Given the description of an element on the screen output the (x, y) to click on. 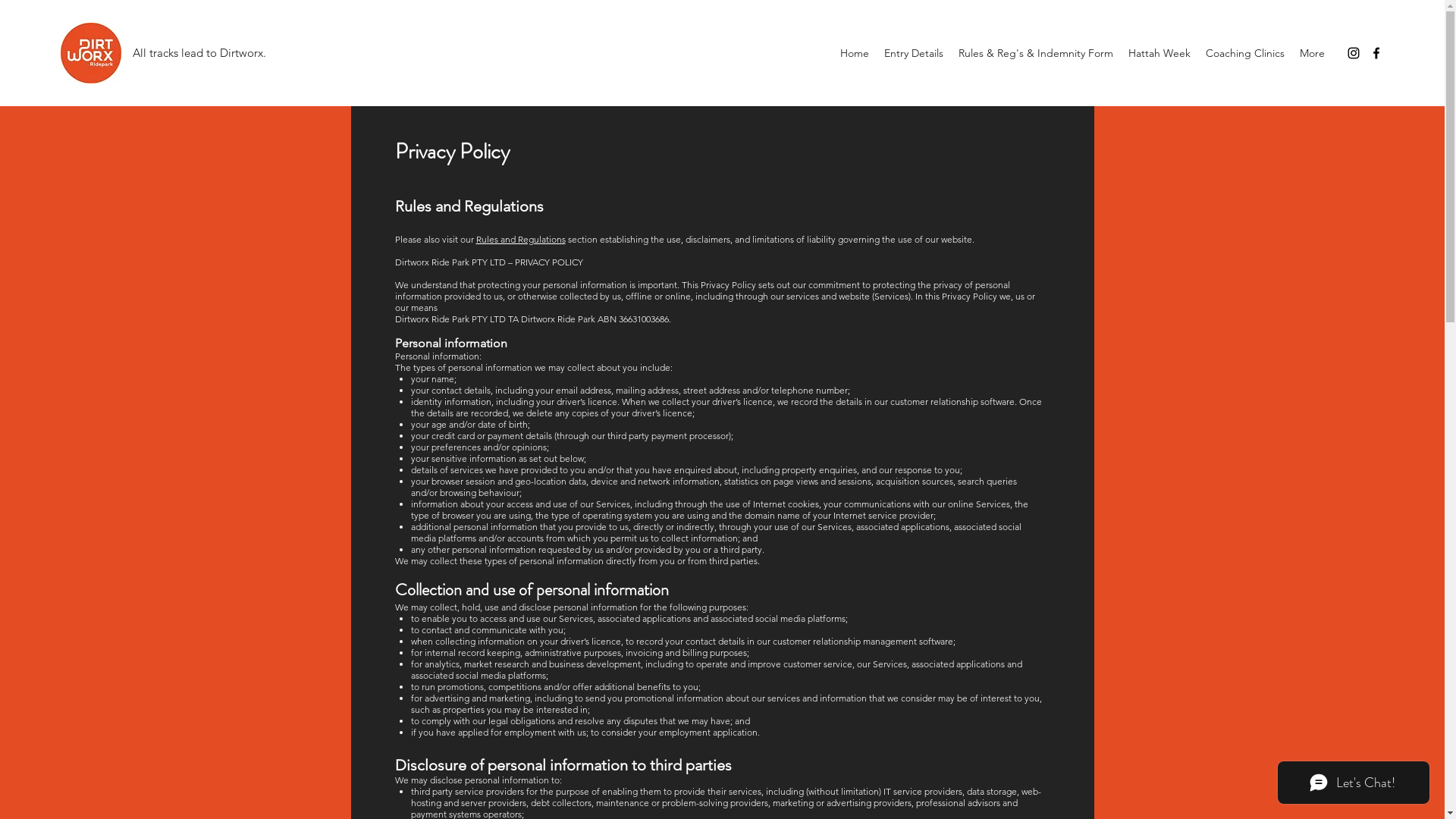
Coaching Clinics Element type: text (1245, 52)
Rules & Reg's & Indemnity Form Element type: text (1035, 52)
Rules and Regulations Element type: text (520, 238)
Home Element type: text (854, 52)
Entry Details Element type: text (913, 52)
Hattah Week Element type: text (1159, 52)
